Given the description of an element on the screen output the (x, y) to click on. 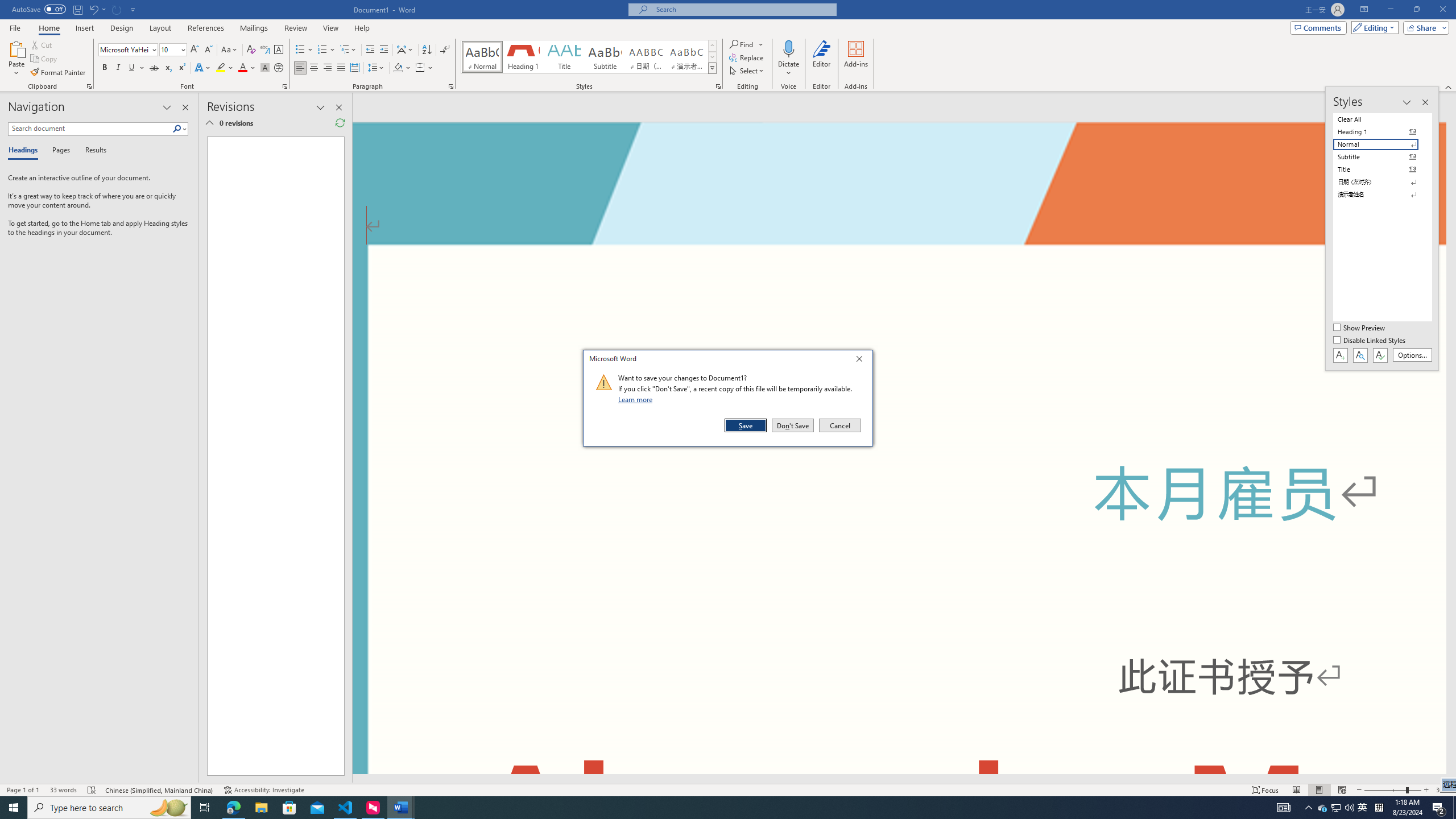
File Explorer (261, 807)
Font Size (169, 49)
Zoom In (1426, 790)
Class: NetUIButton (1380, 355)
Refresh Reviewing Pane (339, 122)
Character Shading (264, 67)
Heading 1 (522, 56)
AutomationID: QuickStylesGallery (588, 56)
View (330, 28)
Show desktop (1454, 807)
Align Left (300, 67)
Close pane (185, 107)
References (205, 28)
Text Effects and Typography (202, 67)
